Given the description of an element on the screen output the (x, y) to click on. 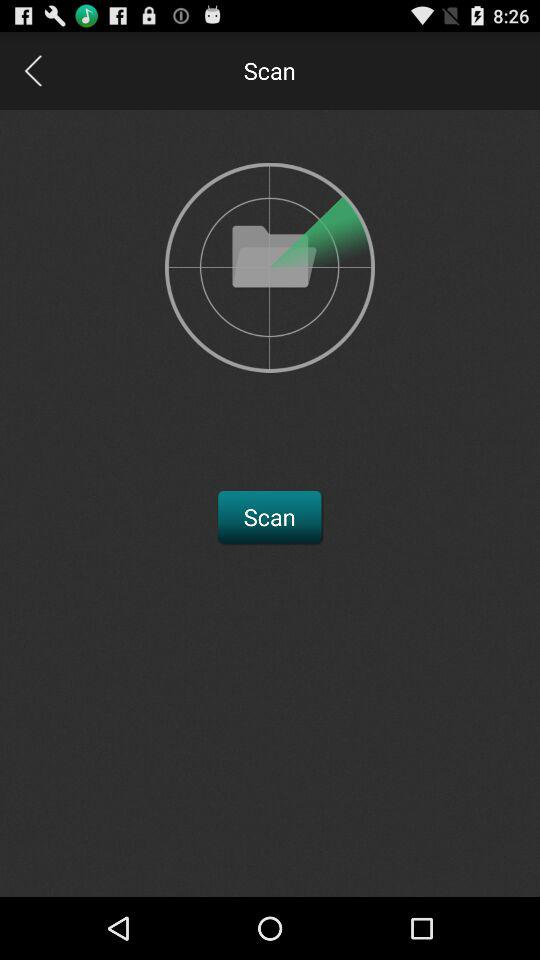
go back (32, 70)
